Given the description of an element on the screen output the (x, y) to click on. 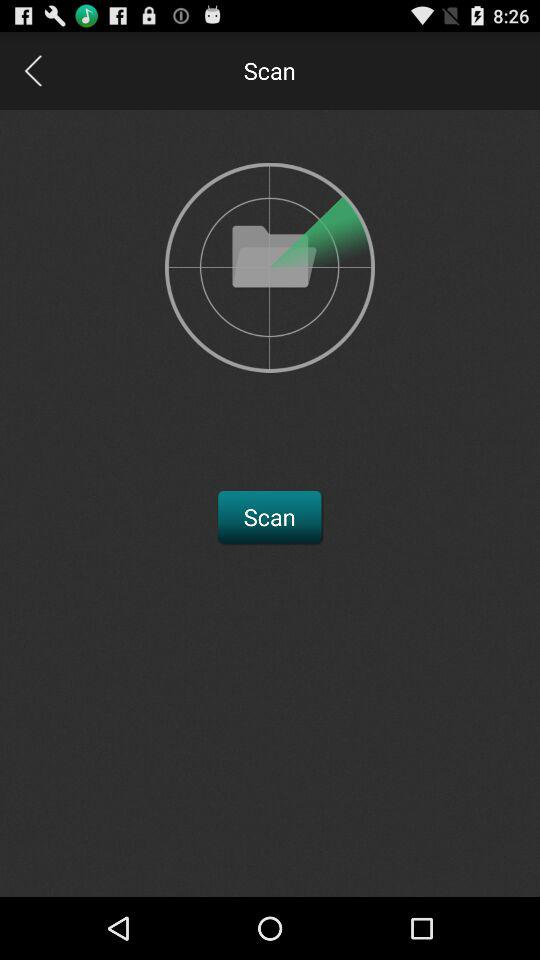
go back (32, 70)
